Given the description of an element on the screen output the (x, y) to click on. 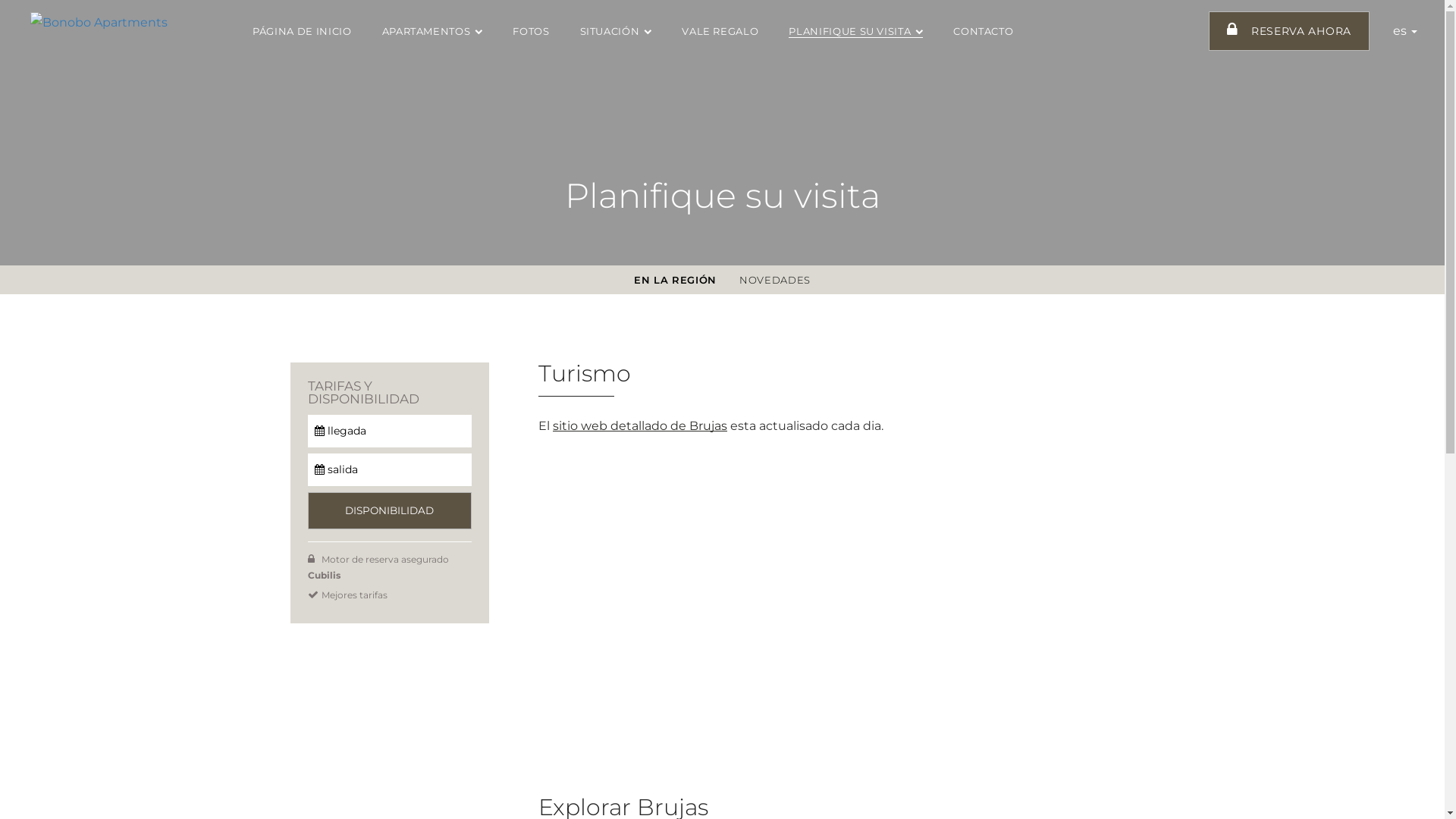
Cubilis Element type: text (323, 574)
VALE REGALO Element type: text (719, 30)
RESERVA AHORA Element type: text (1288, 30)
NOVEDADES Element type: text (774, 279)
PLANIFIQUE SU VISITA Element type: text (855, 30)
Bonobo Apartments Element type: hover (98, 22)
es Element type: text (1404, 30)
CONTACTO Element type: text (983, 30)
FOTOS Element type: text (530, 30)
DISPONIBILIDAD Element type: text (389, 510)
APARTAMENTOS Element type: text (432, 30)
sitio web detallado de Brujas Element type: text (639, 425)
